Given the description of an element on the screen output the (x, y) to click on. 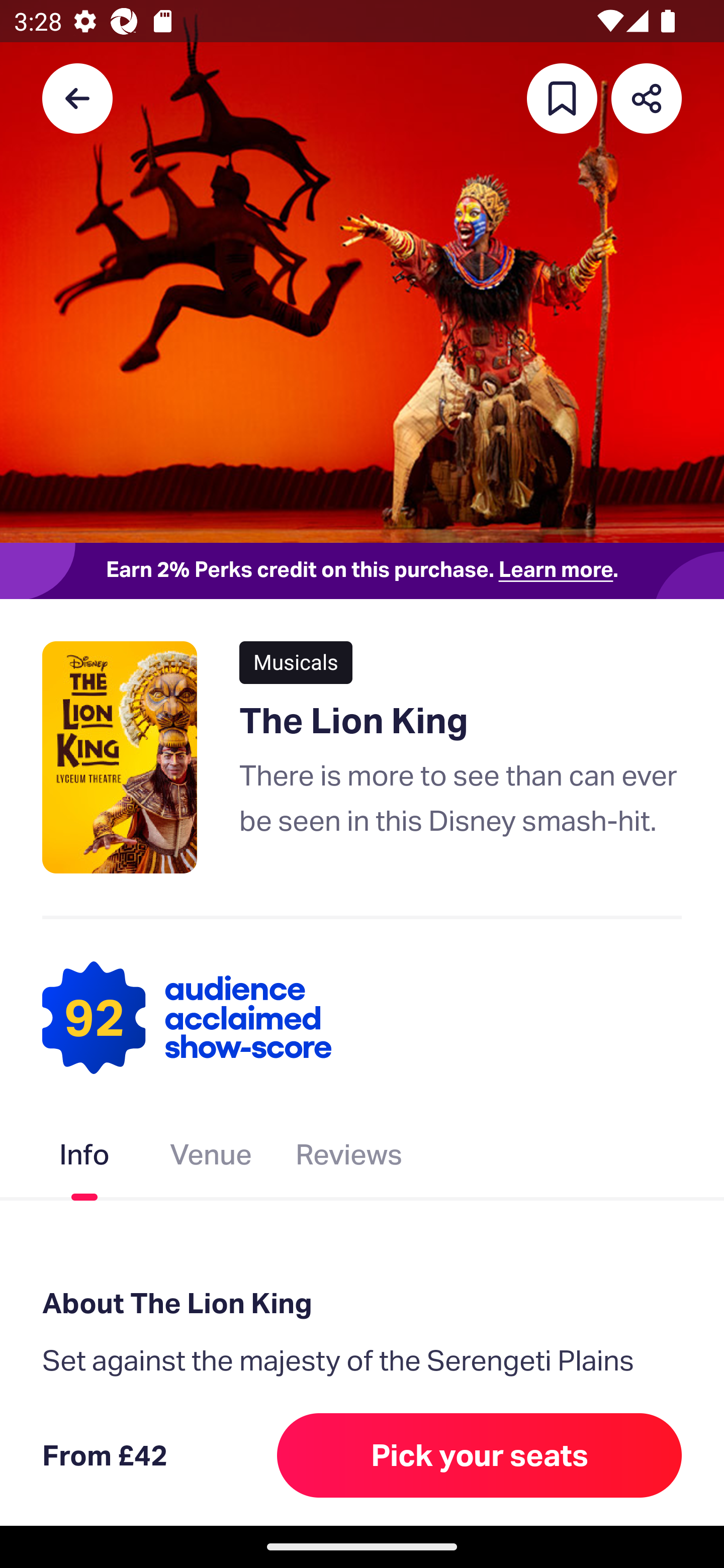
Earn 2% Perks credit on this purchase. Learn more. (362, 570)
Venue (210, 1158)
Reviews (348, 1158)
About The Lion King (361, 1303)
Pick your seats (479, 1454)
